Given the description of an element on the screen output the (x, y) to click on. 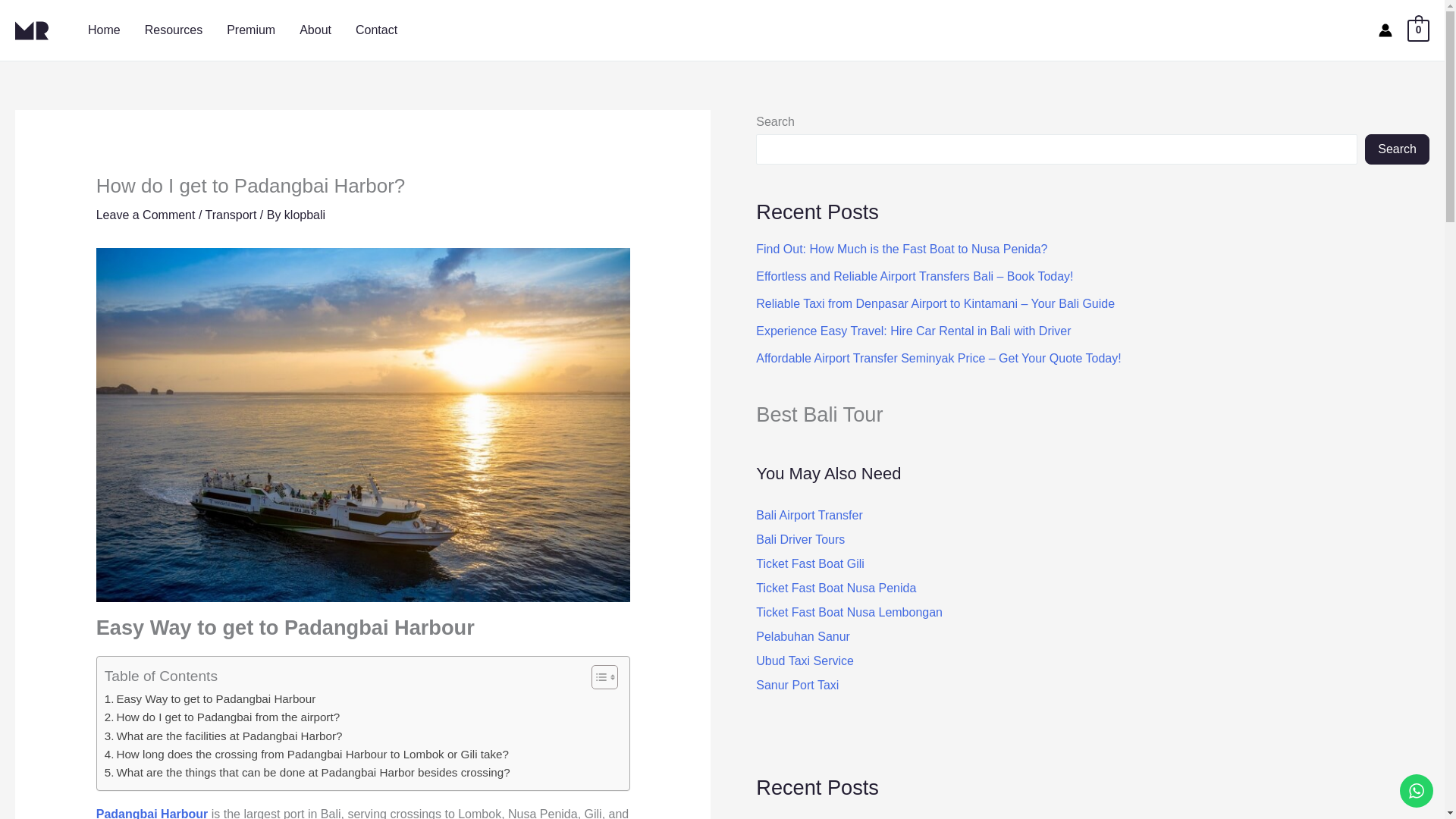
What are the facilities at Padangbai Harbor? (223, 736)
Easy Way to get to Padangbai Harbour (209, 699)
View your shopping cart (1418, 29)
About (314, 30)
View all posts by klopbali (303, 214)
Easy Way to get to Padangbai Harbour (209, 699)
Home (103, 30)
0 (1418, 29)
Padangbai Harbour (152, 813)
